Given the description of an element on the screen output the (x, y) to click on. 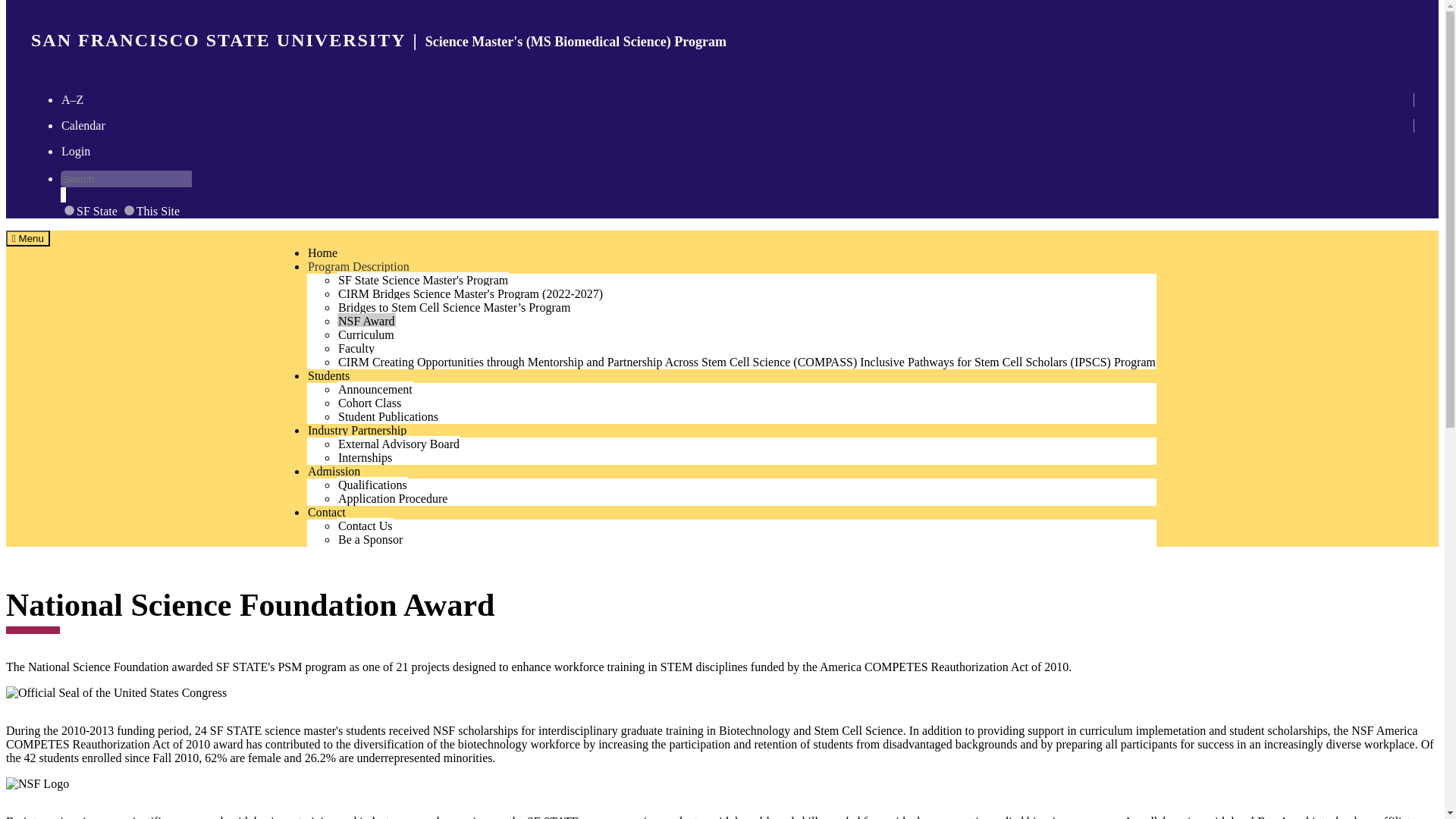
SAN FRANCISCO STATE UNIVERSITY (218, 38)
Be a Sponsor (370, 538)
Internships (365, 456)
External Advisory Board (326, 511)
Application Procedure (398, 442)
global (392, 497)
Contact Us (69, 210)
Search SF State (365, 524)
SF State Science Master's Program (134, 194)
Qualifications (422, 278)
NSF Award (372, 483)
Student Publications (366, 319)
Login (388, 415)
local (75, 150)
